Given the description of an element on the screen output the (x, y) to click on. 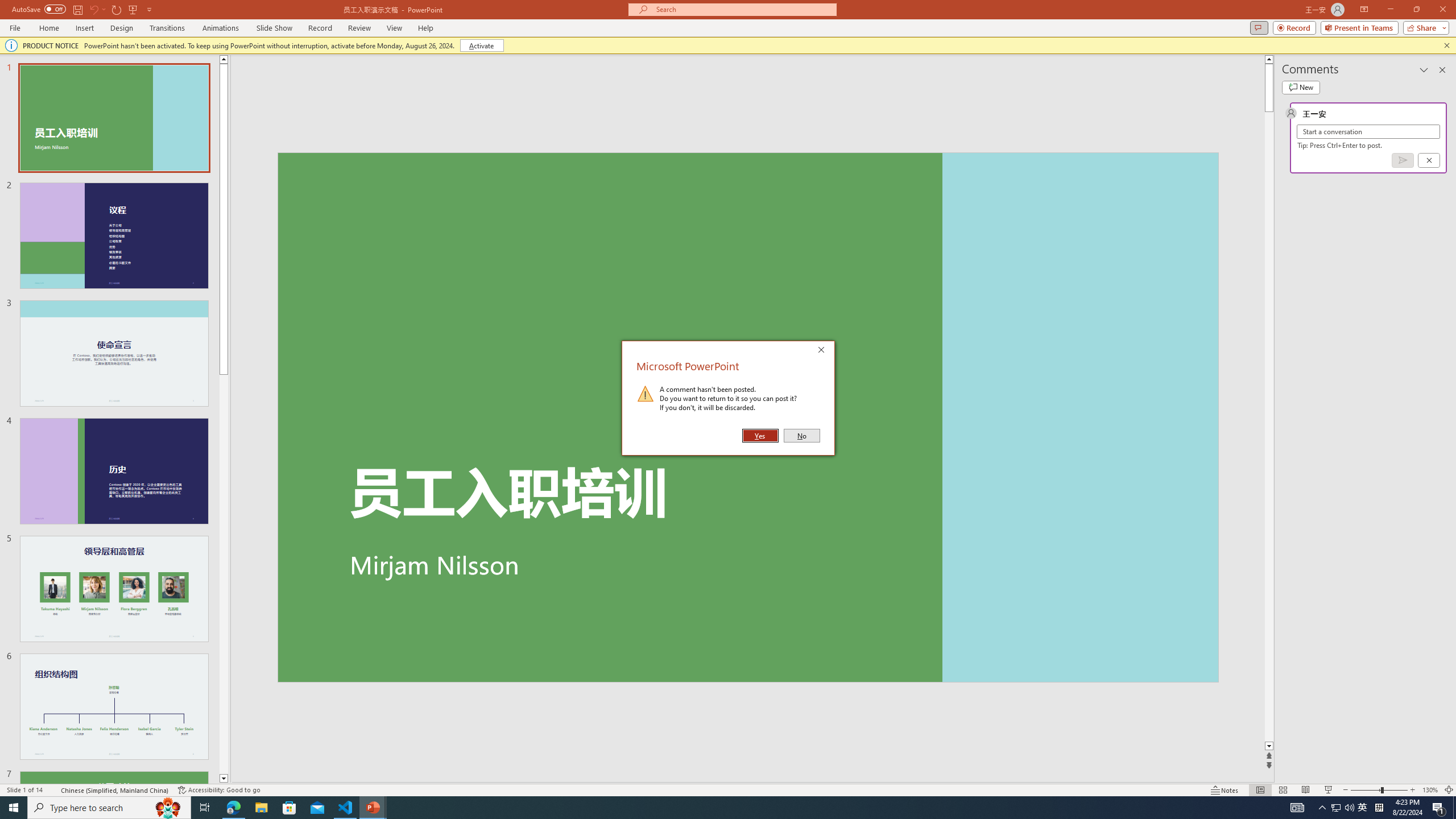
Close this message (1446, 45)
Warning Icon (645, 393)
